Given the description of an element on the screen output the (x, y) to click on. 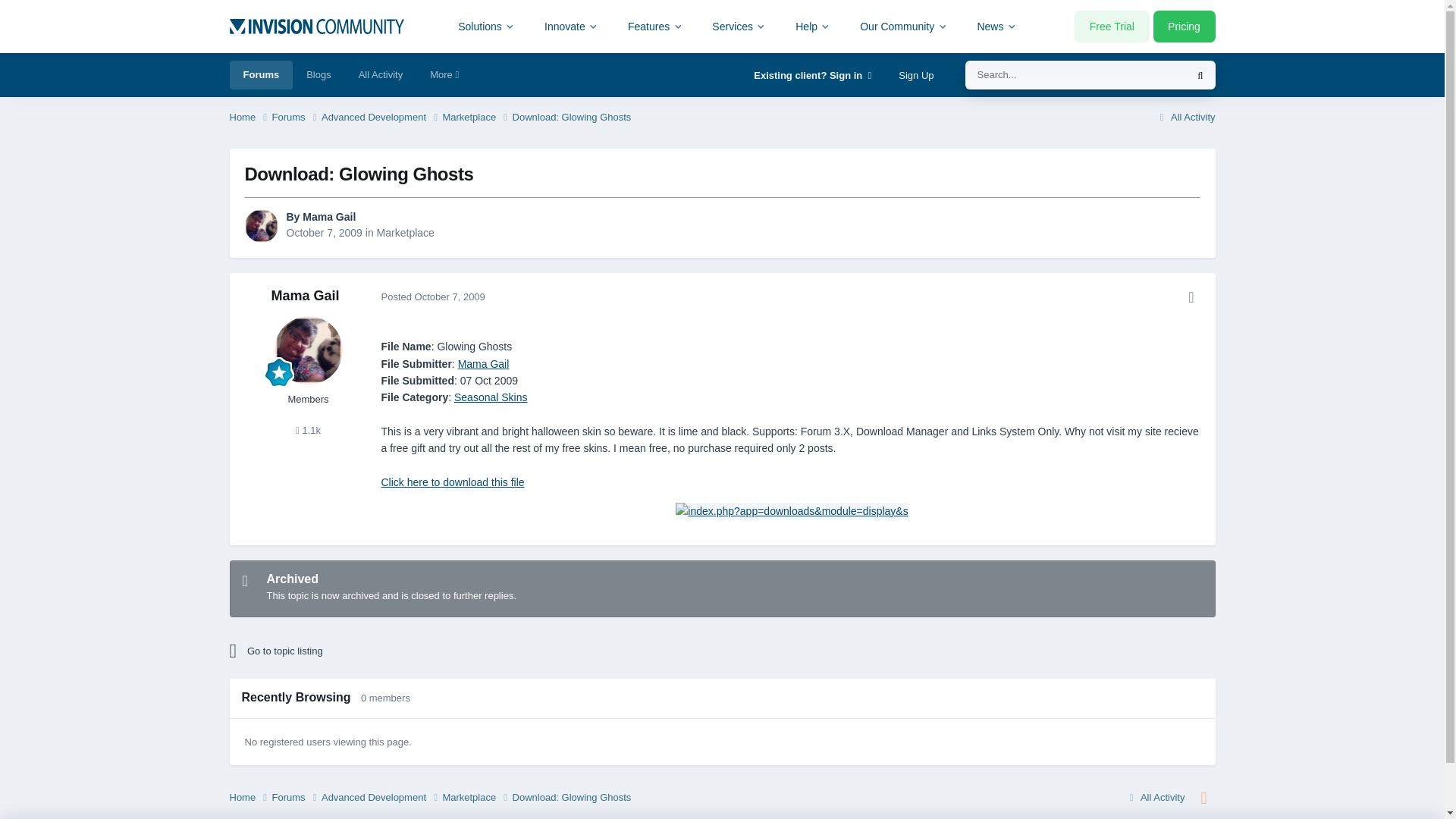
Features (654, 26)
Help (812, 26)
Solutions (486, 26)
Services (738, 26)
Home (249, 117)
Innovate (570, 26)
